Given the description of an element on the screen output the (x, y) to click on. 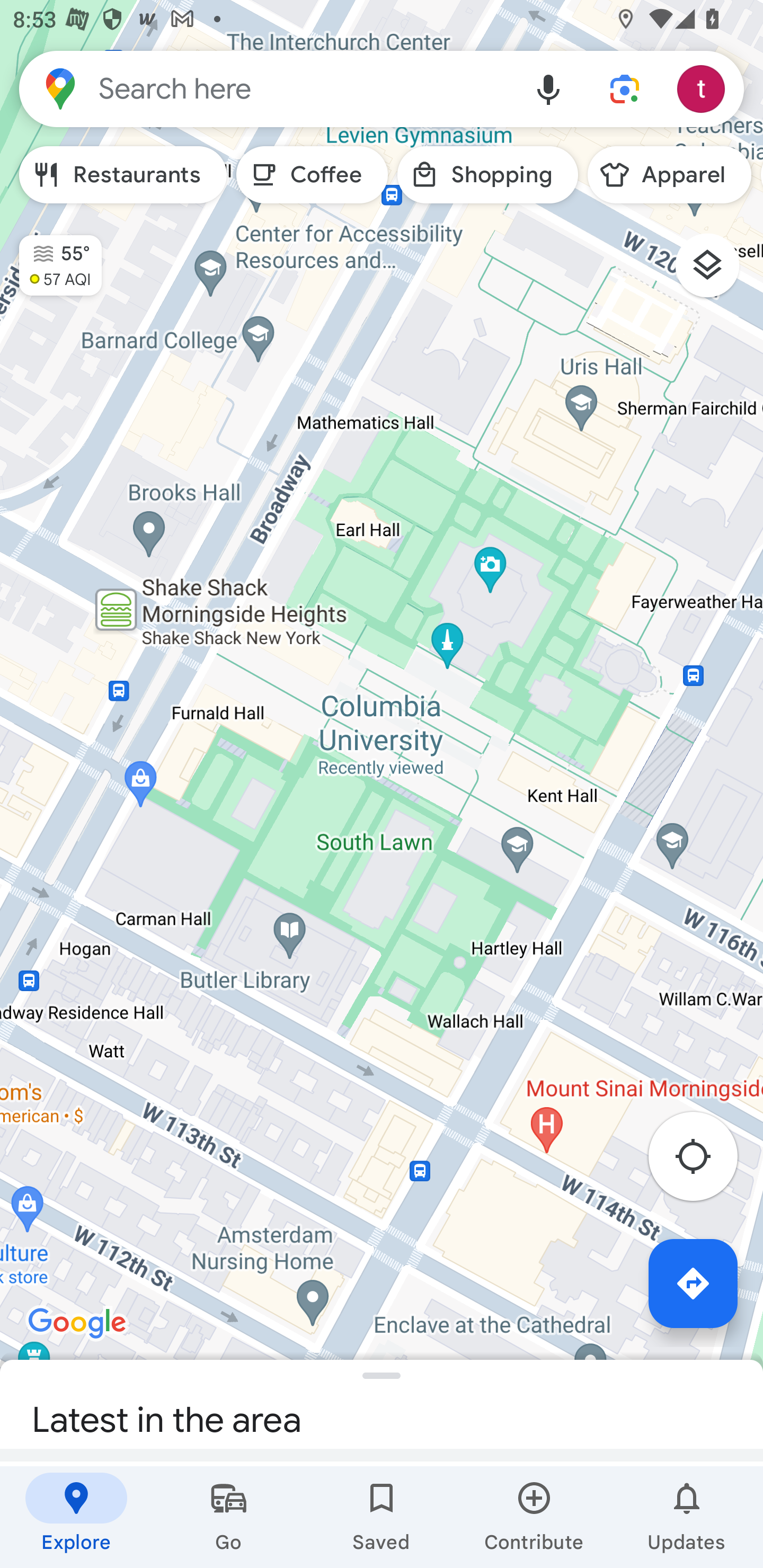
Search here (264, 88)
Voice search (548, 88)
Lens in Maps (624, 88)
Restaurants Search for Restaurants (122, 174)
Coffee Search for Coffee (311, 174)
Shopping Search for Shopping (487, 174)
Apparel Search for Apparel (669, 174)
Mist, 55°, Moderate, 57 AQI 55° 57 AQI (50, 257)
Layers (716, 271)
Re-center map to your location (702, 1161)
Directions (692, 1283)
Go (228, 1517)
Saved (381, 1517)
Contribute (533, 1517)
Updates (686, 1517)
